Given the description of an element on the screen output the (x, y) to click on. 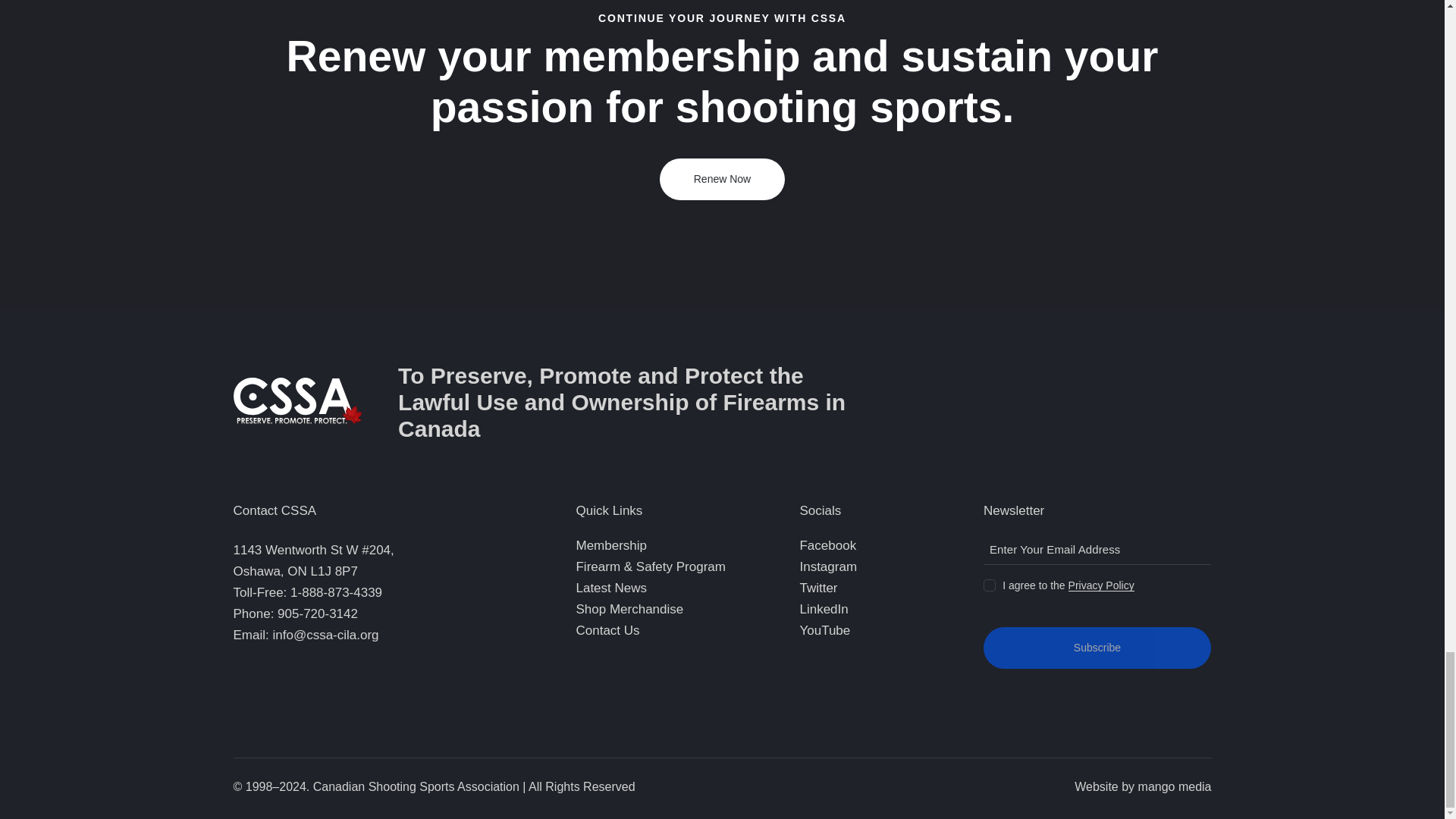
Subscribe (1097, 648)
1 (988, 582)
